Given the description of an element on the screen output the (x, y) to click on. 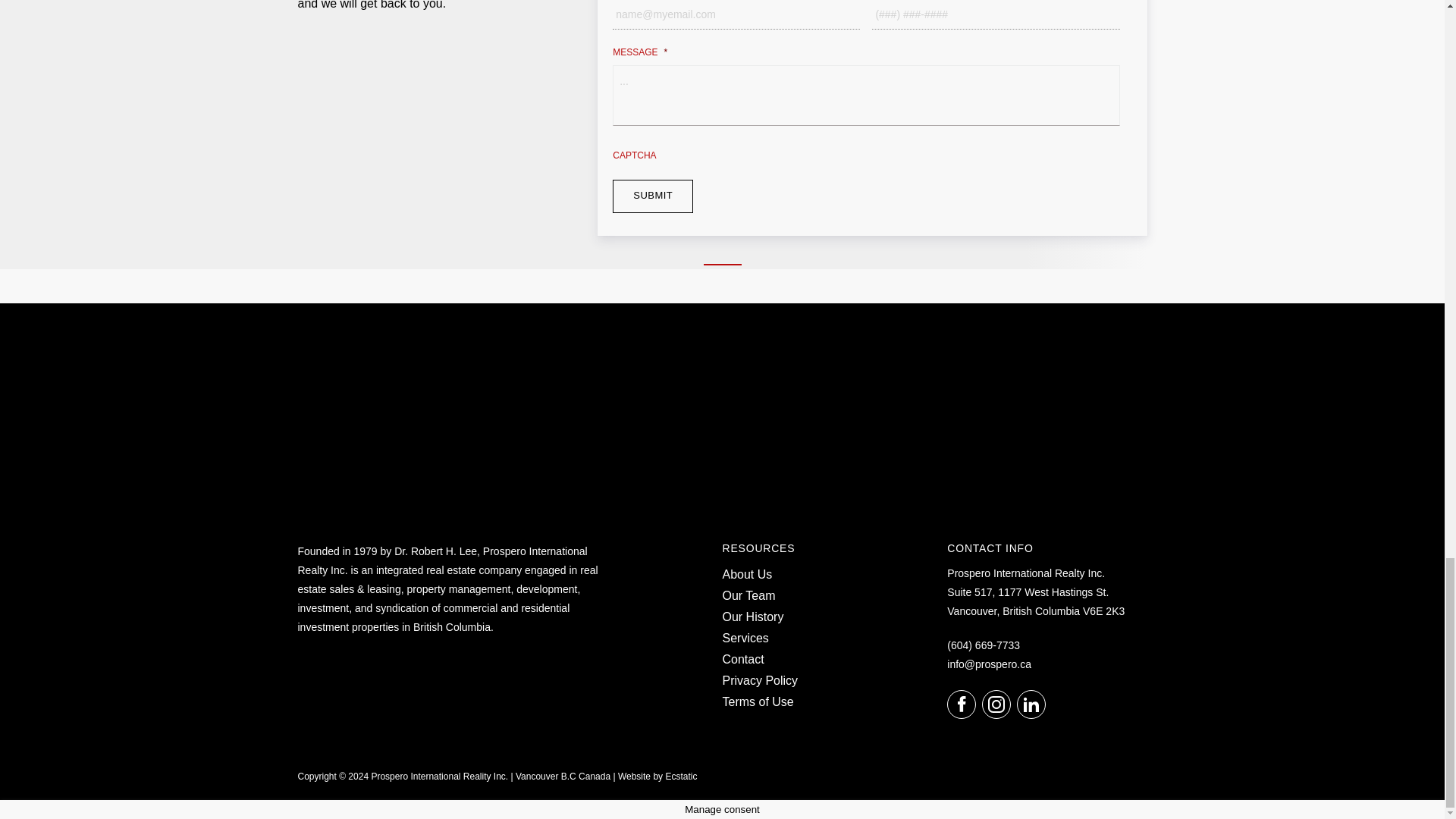
Terms of Use (757, 701)
Our Team (748, 594)
Services (745, 637)
Contact (742, 658)
Our History (752, 616)
Submit (652, 195)
About Us (746, 574)
Submit (652, 195)
Privacy Policy (759, 680)
